Given the description of an element on the screen output the (x, y) to click on. 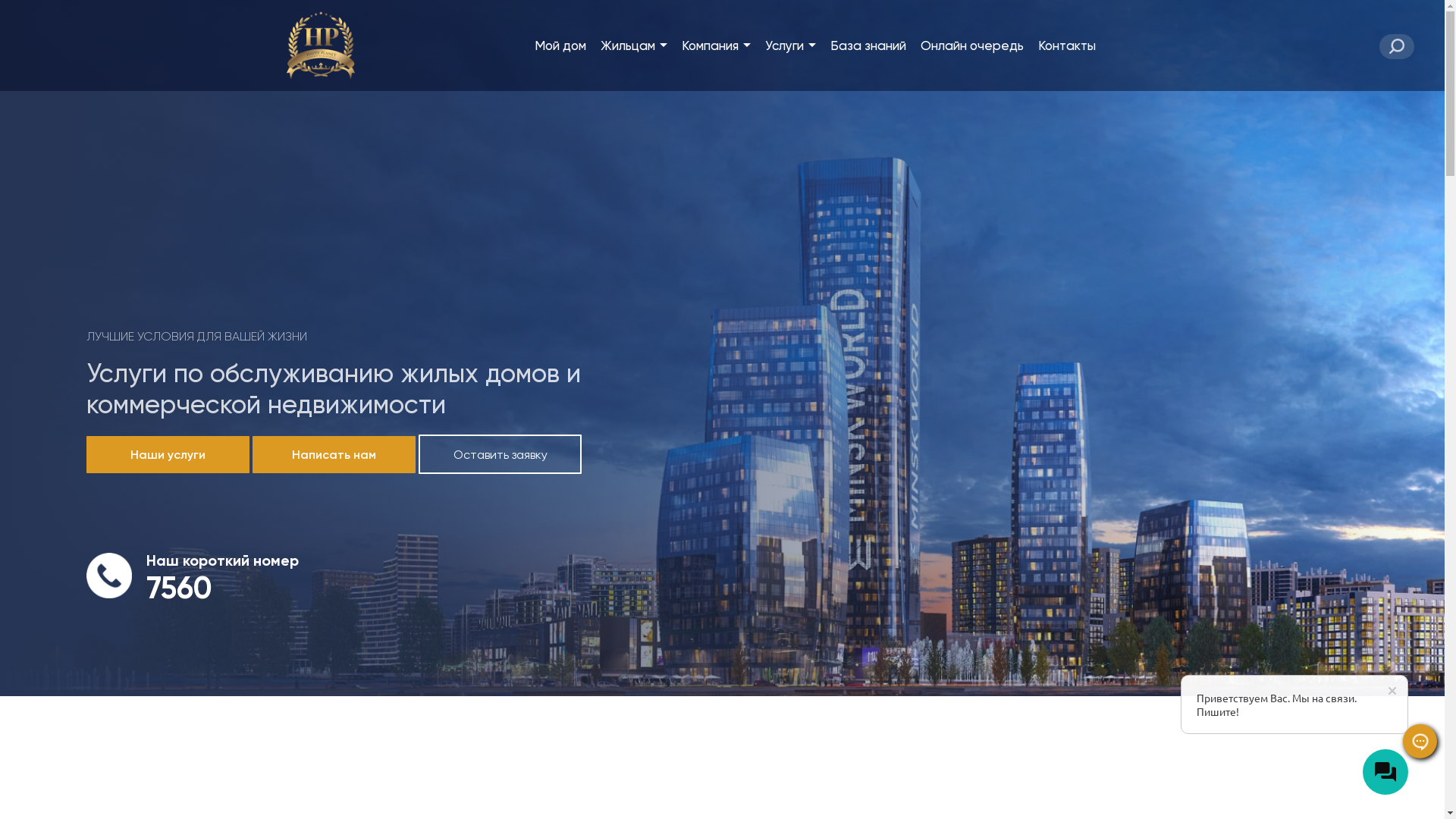
7560 Element type: text (179, 587)
DPMBY Element type: hover (320, 45)
